Given the description of an element on the screen output the (x, y) to click on. 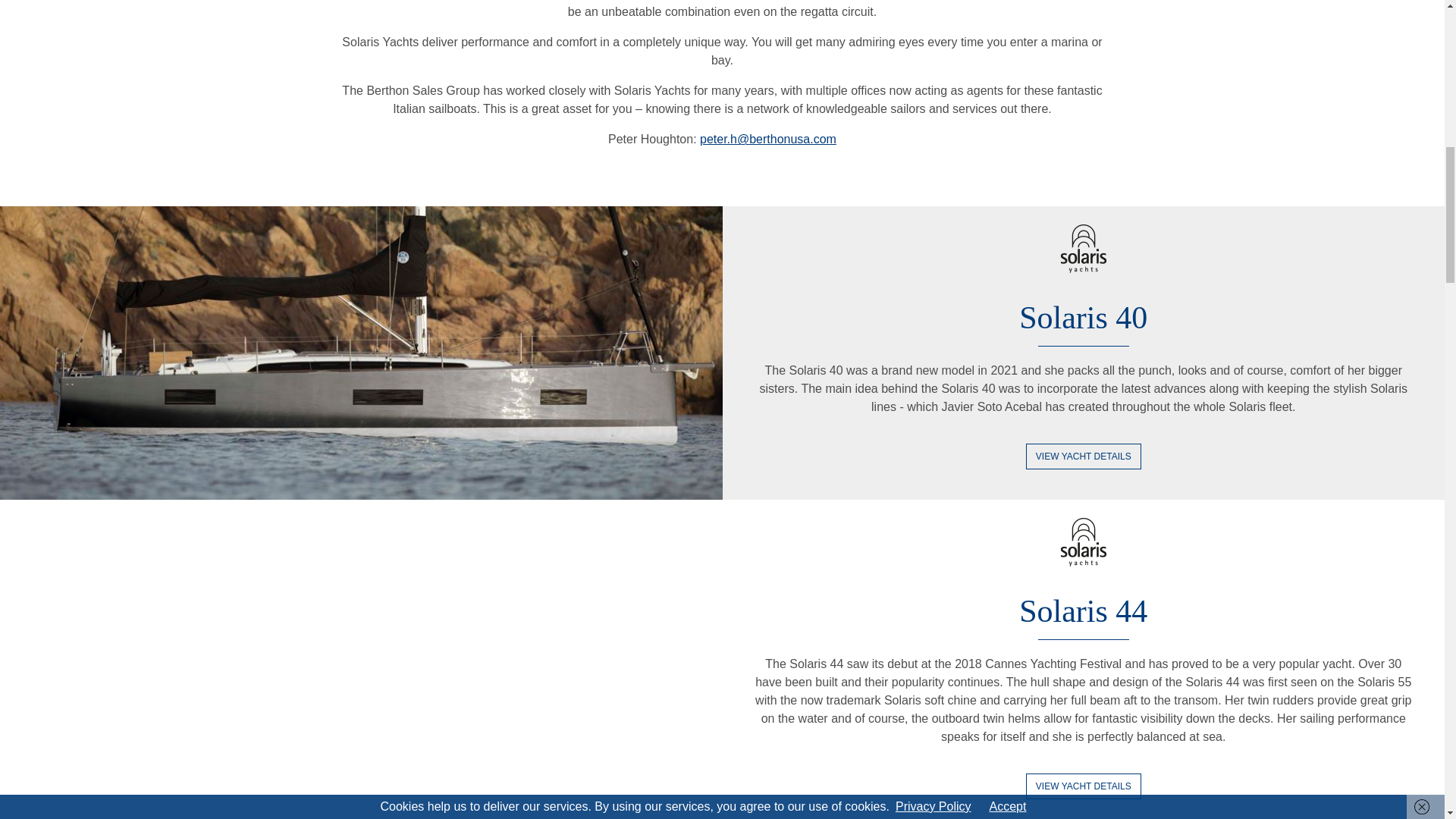
VIEW YACHT DETAILS (1083, 786)
VIEW YACHT DETAILS (1083, 456)
Solaris 40 (1083, 317)
Solaris 44 (1083, 610)
